Given the description of an element on the screen output the (x, y) to click on. 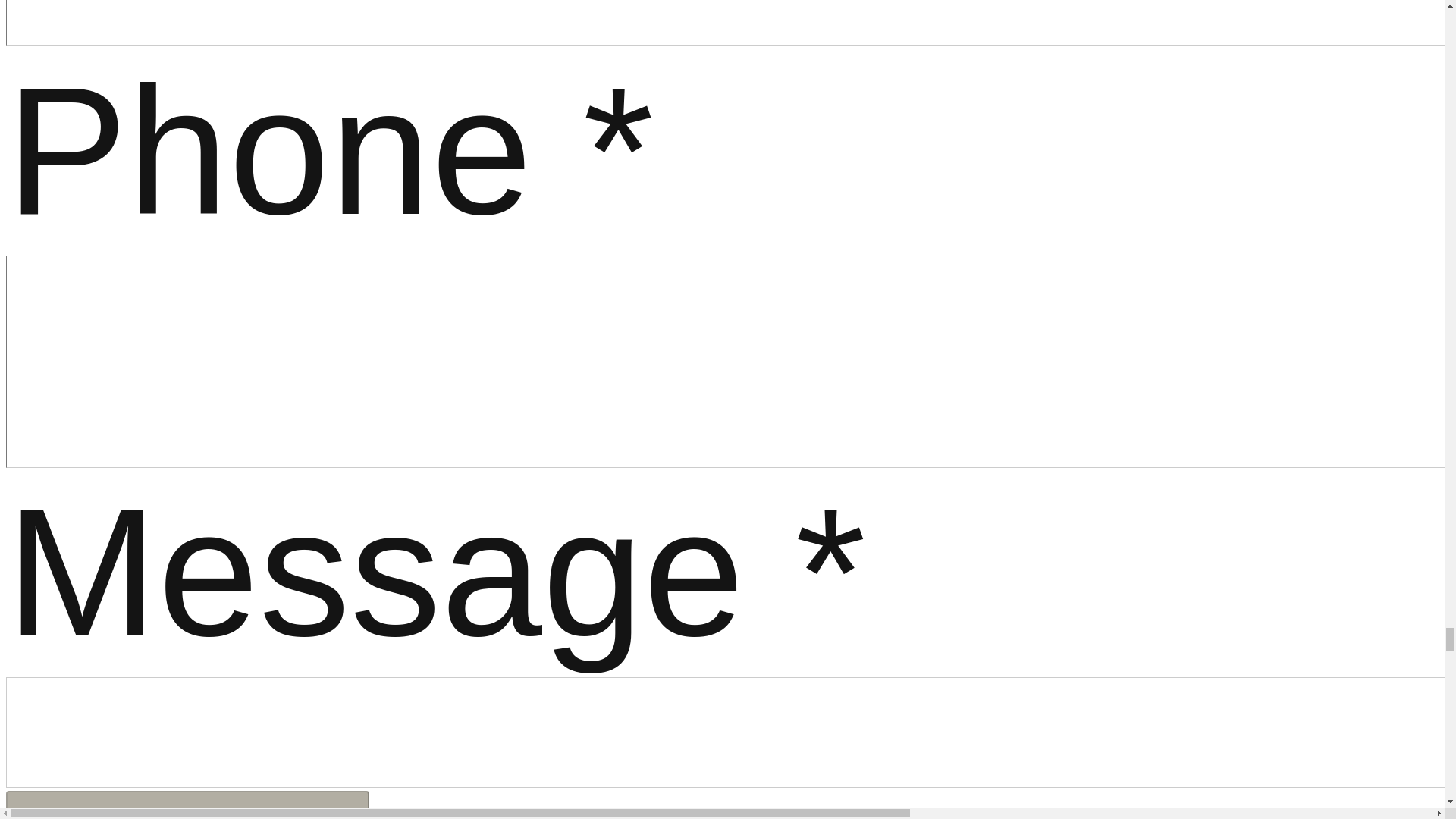
Send Message (187, 805)
